Given the description of an element on the screen output the (x, y) to click on. 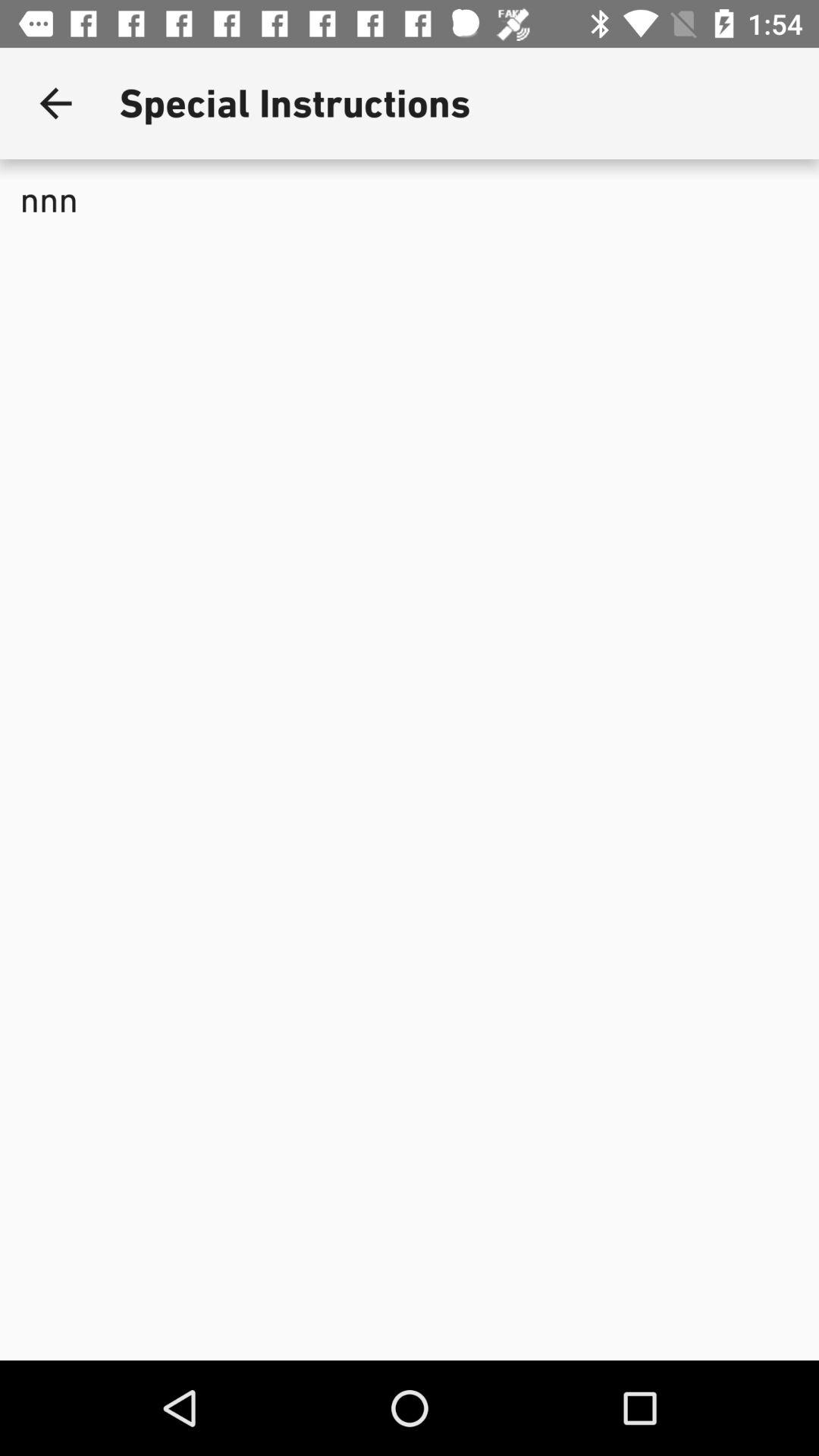
launch the icon next to special instructions app (55, 103)
